Given the description of an element on the screen output the (x, y) to click on. 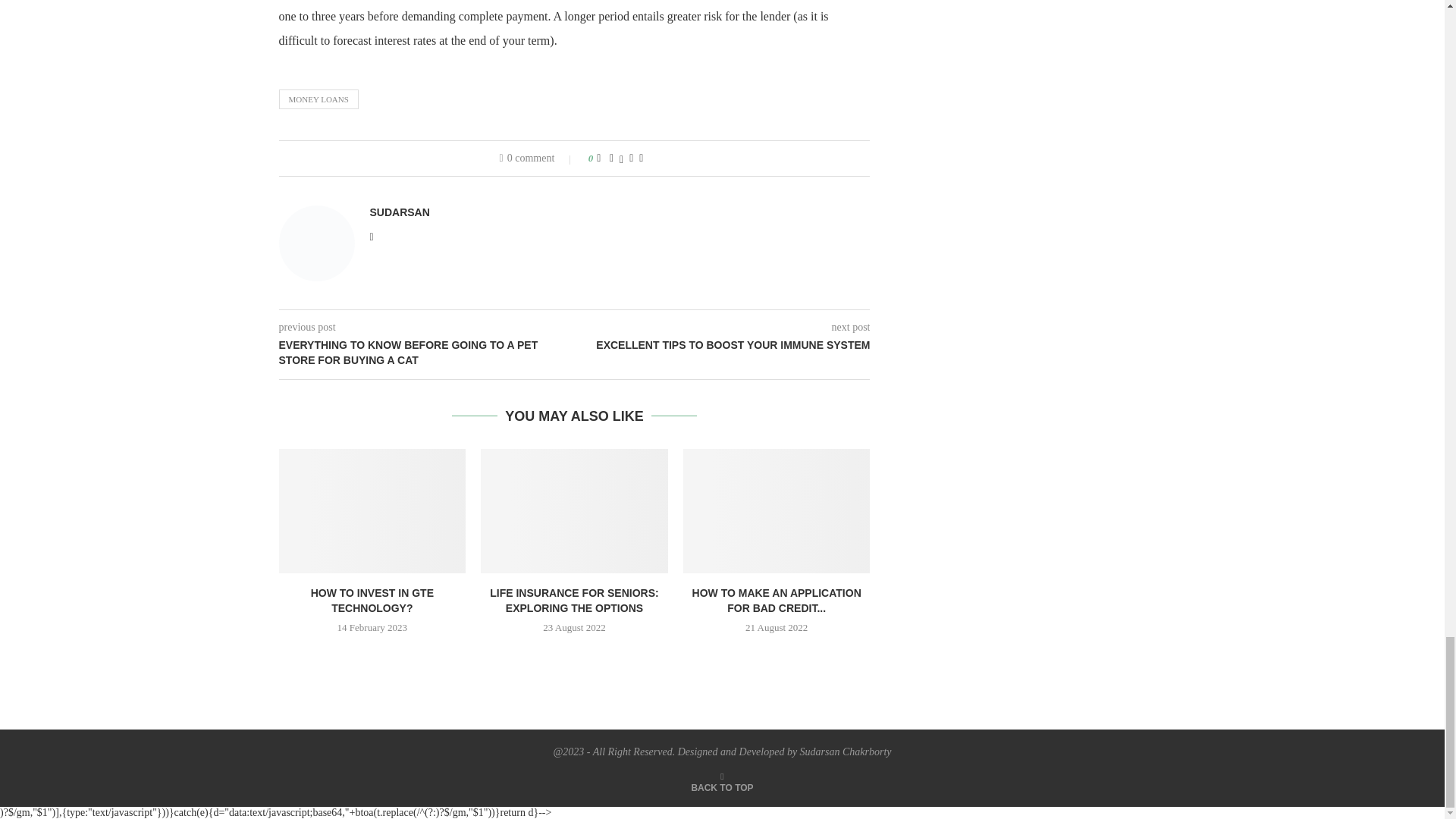
How To Invest In GTE Technology? (372, 510)
How To Make an Application For Bad Credit Score Financing? (776, 510)
MONEY LOANS (318, 98)
SUDARSAN (399, 212)
Life Insurance for Seniors: Exploring the Options (574, 510)
Author Sudarsan (399, 212)
